Given the description of an element on the screen output the (x, y) to click on. 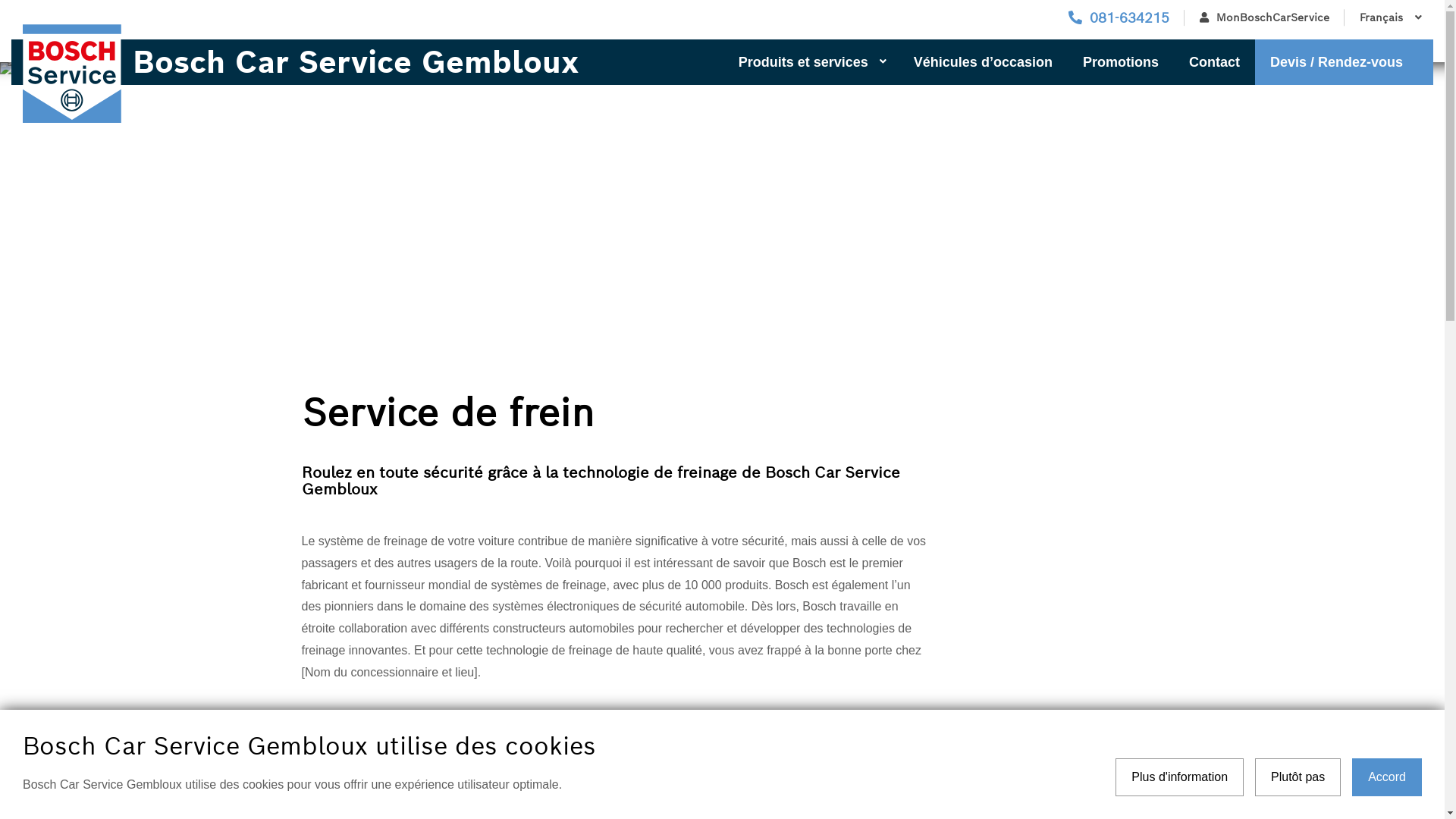
081-634215 Element type: text (1118, 17)
Devis / Rendez-vous Element type: text (1344, 61)
Contact Element type: text (1214, 61)
Skip to main content Element type: text (0, 0)
Accord Element type: text (1386, 777)
Promotions Element type: text (1120, 61)
Plus d'information Element type: text (1179, 777)
MonBoschCarService Element type: text (1264, 17)
Produits et services Element type: text (810, 61)
Bosch Car Service Gembloux Element type: text (336, 61)
